Given the description of an element on the screen output the (x, y) to click on. 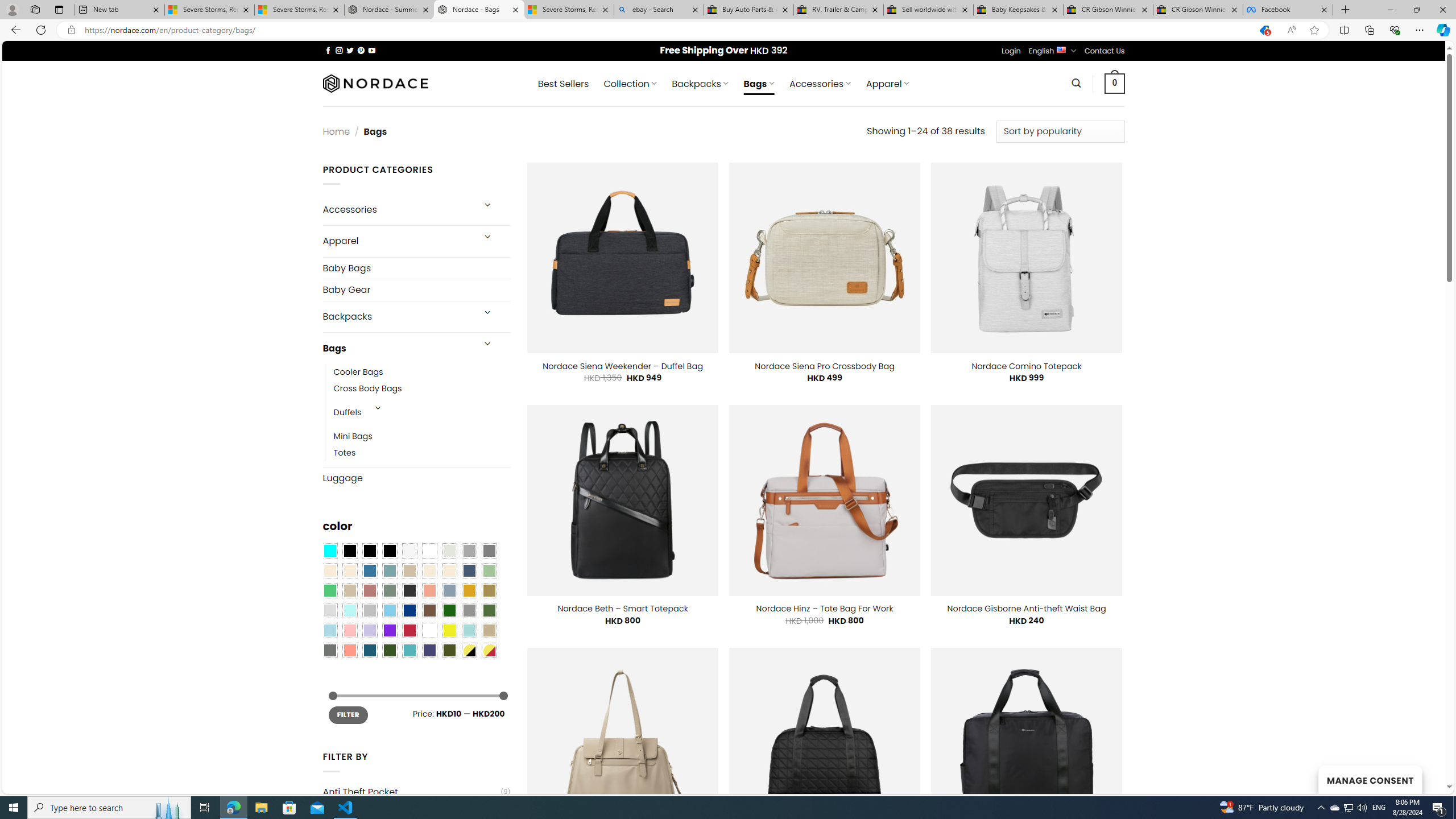
Baby Bags (416, 267)
Cross Body Bags (367, 388)
Nordace Comino Totepack (1026, 365)
Capri Blue (369, 649)
FILTER (347, 714)
Backpacks (397, 316)
Sky Blue (389, 610)
Accessories (397, 209)
Green (488, 610)
Cooler Bags (422, 371)
